Given the description of an element on the screen output the (x, y) to click on. 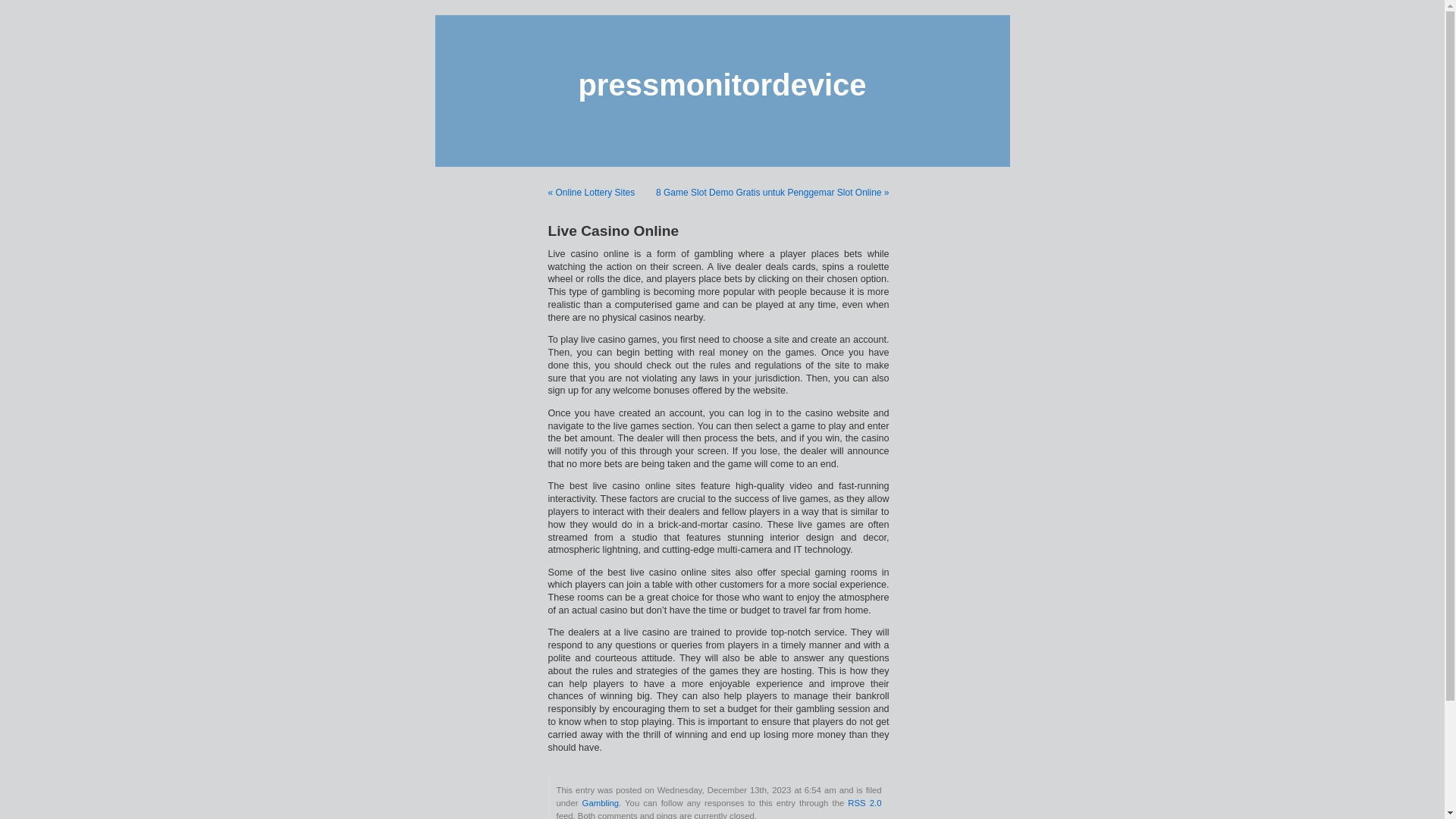
RSS 2.0 (863, 802)
pressmonitordevice (722, 84)
Gambling (600, 802)
